Given the description of an element on the screen output the (x, y) to click on. 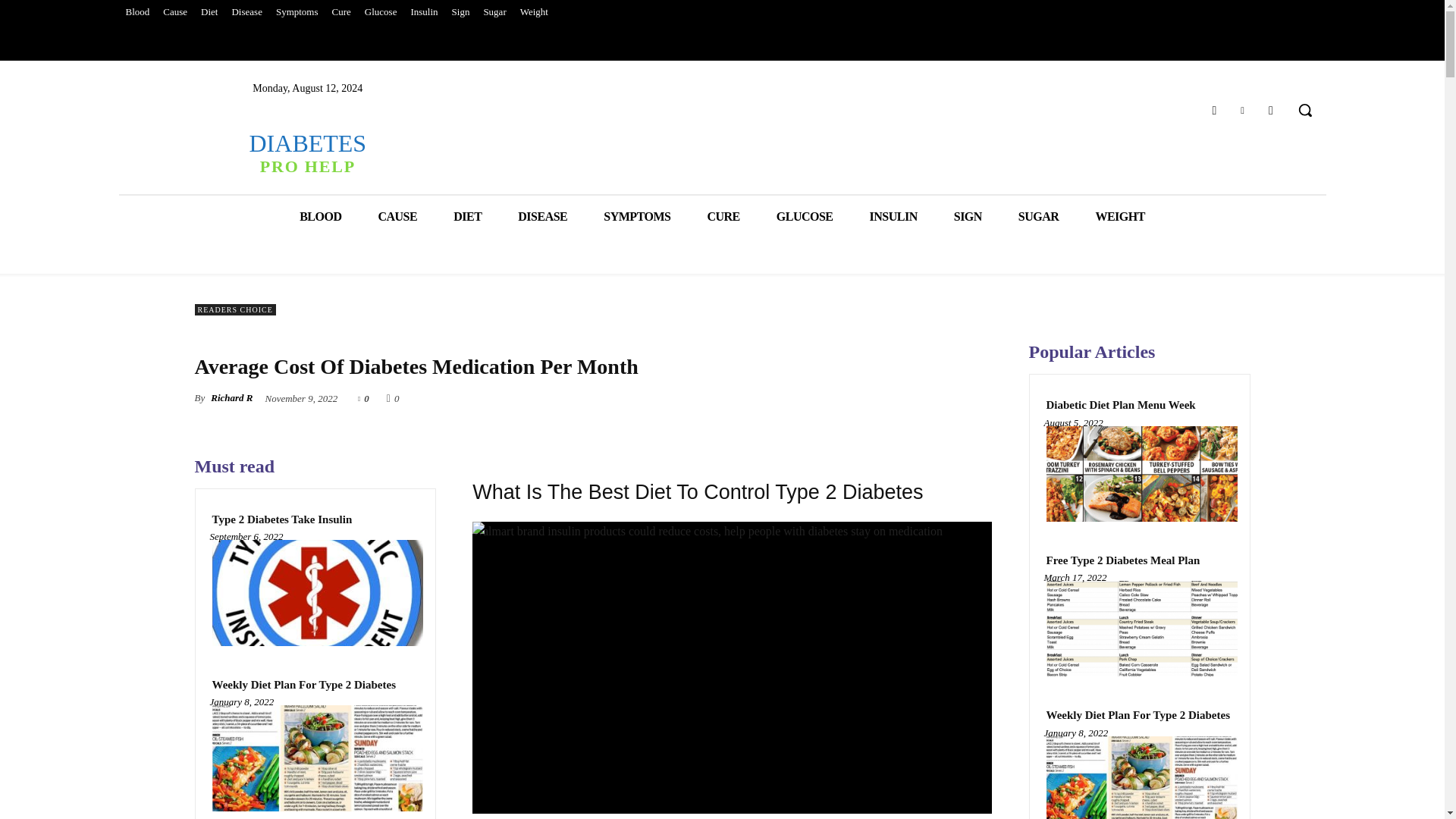
INSULIN (306, 152)
Type 2 Diabetes Take Insulin (893, 216)
Diet (281, 519)
SYMPTOMS (208, 12)
SIGN (636, 216)
BLOOD (968, 216)
DIET (320, 216)
Sign (467, 216)
Sugar (461, 12)
